Given the description of an element on the screen output the (x, y) to click on. 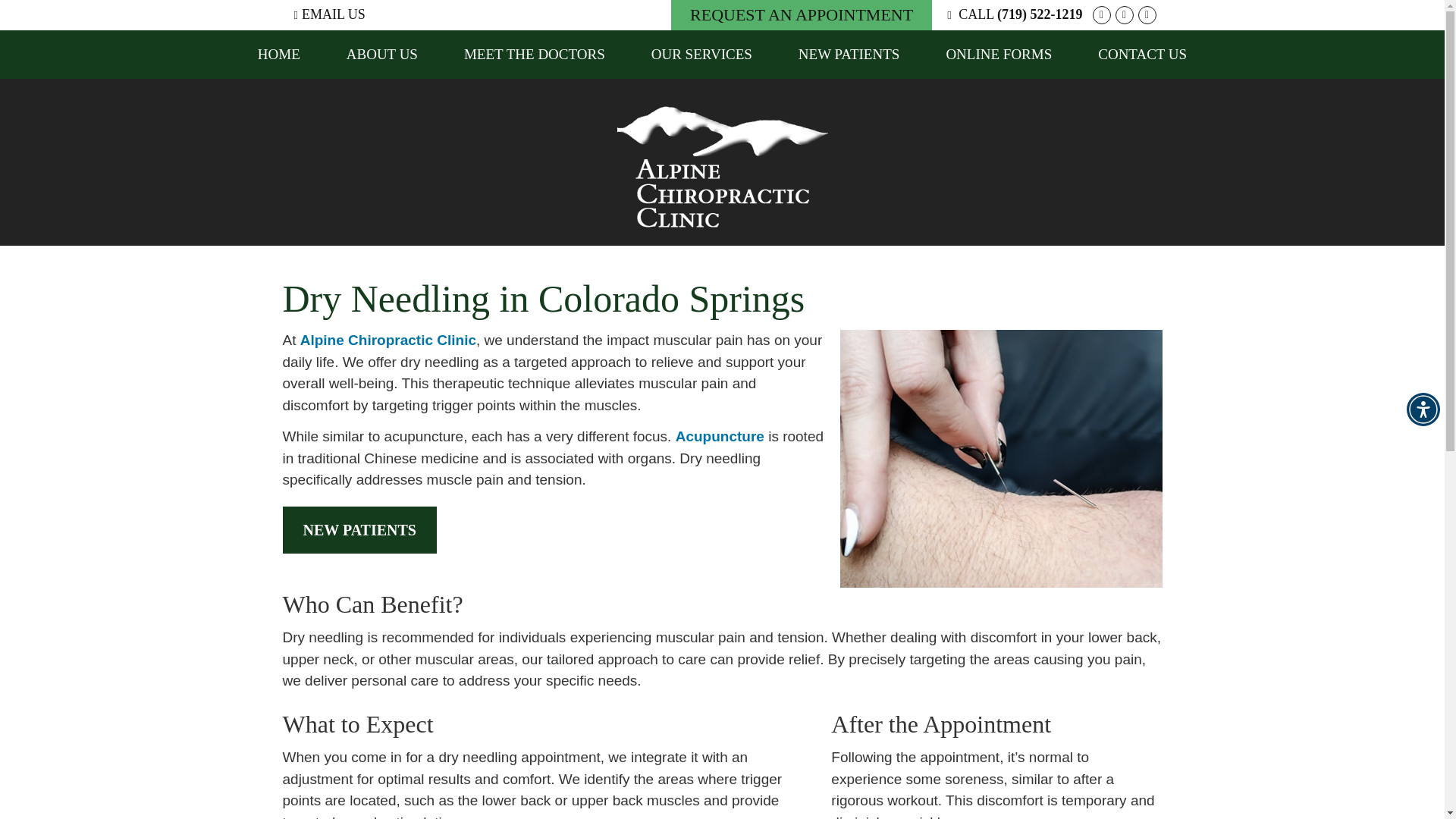
Google Social Button (1100, 14)
HOME (278, 54)
Alpine Chiropractic Clinic (387, 340)
Facebook Social Button (1123, 14)
Accessibility Menu (1422, 409)
MEET THE DOCTORS (534, 54)
ABOUT US (382, 54)
Acupuncture (719, 436)
CONTACT US (1142, 54)
OUR SERVICES (702, 54)
